Given the description of an element on the screen output the (x, y) to click on. 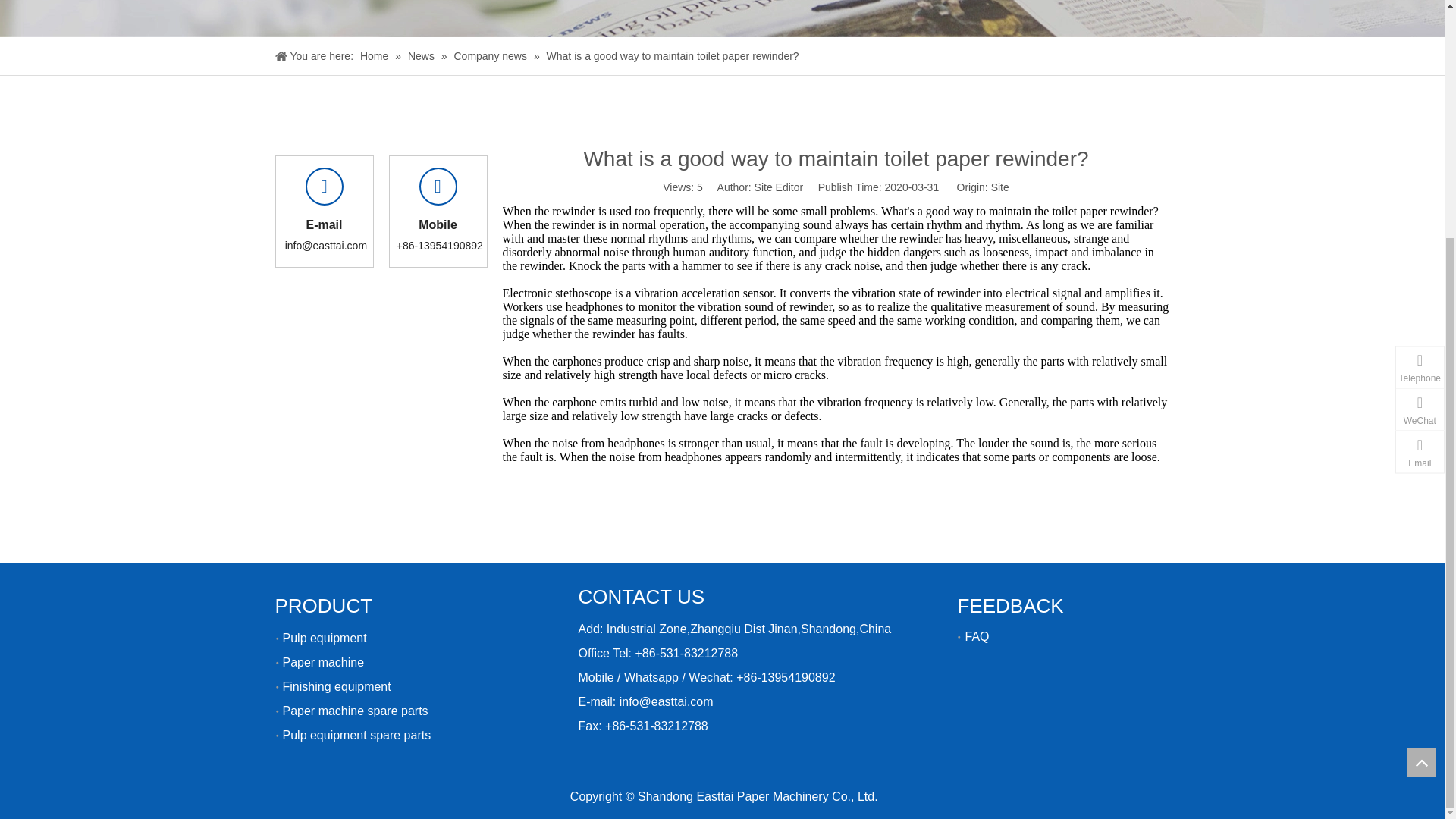
FAQ (975, 635)
FAQ (975, 635)
Home (375, 55)
Pulp equipment spare parts (356, 735)
Paper machine spare parts (355, 710)
Pulp equipment (324, 637)
Pulp equipment (324, 637)
Paper machine spare parts (355, 710)
Paper machine (323, 662)
Site (1000, 186)
